Given the description of an element on the screen output the (x, y) to click on. 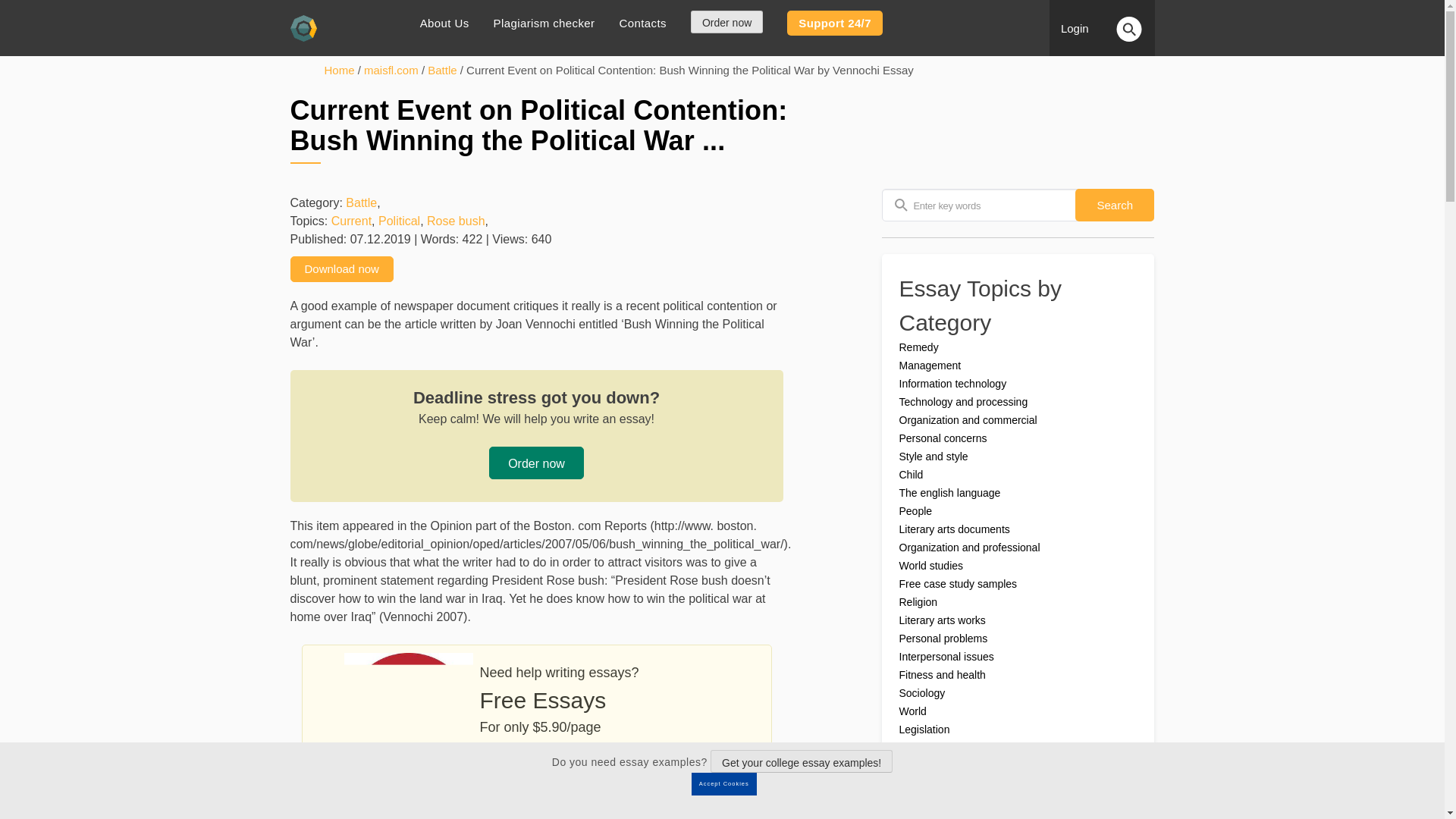
People (916, 510)
Style and style (933, 456)
Order now (536, 462)
Battle (361, 202)
maisfl.com (391, 69)
Literary arts documents (954, 529)
Personal concerns (943, 438)
Search (1114, 205)
Rose bush (455, 220)
Login (1081, 28)
